Given the description of an element on the screen output the (x, y) to click on. 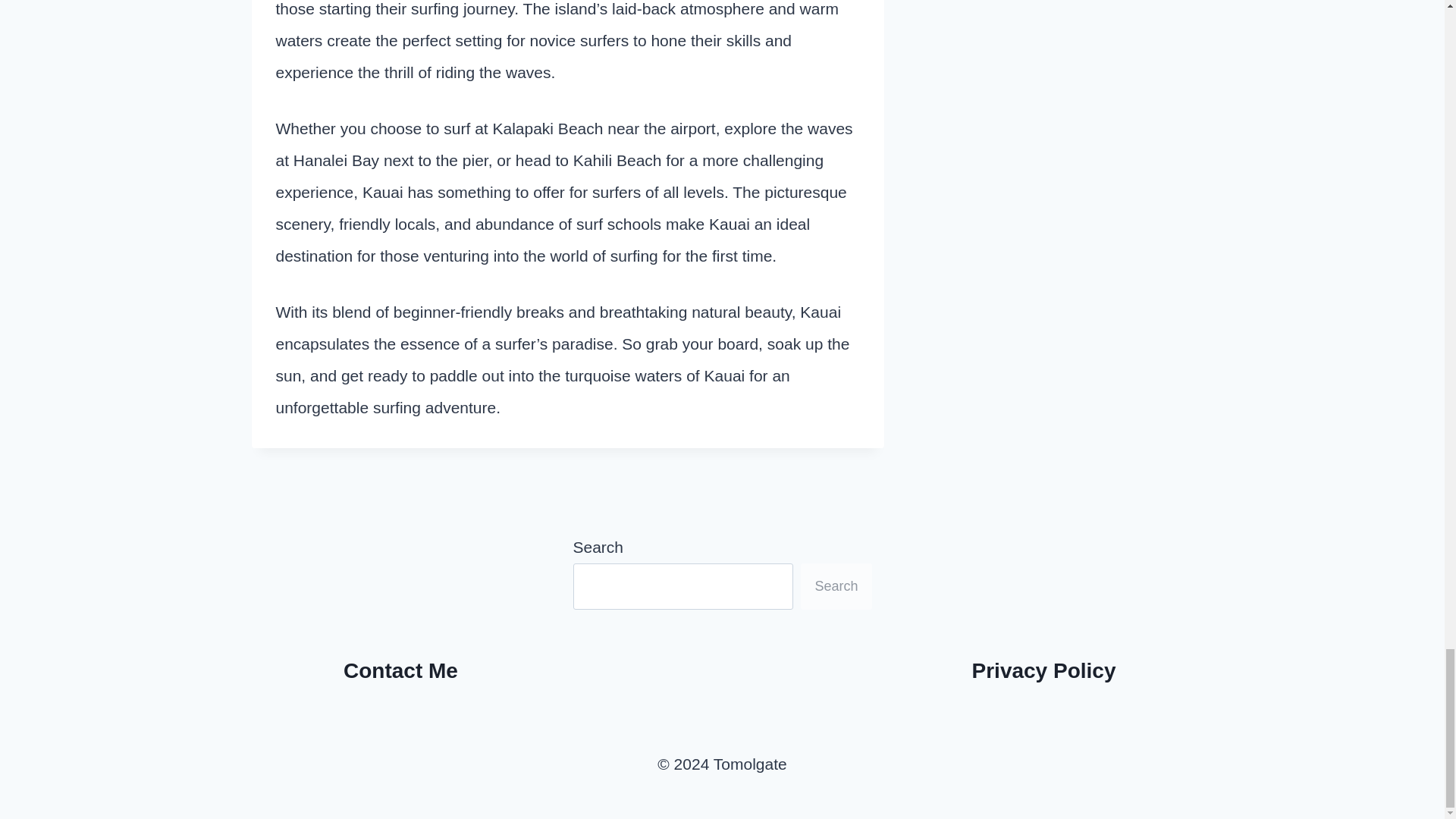
Contact Me (400, 670)
Privacy Policy (1044, 670)
Search (835, 586)
